Given the description of an element on the screen output the (x, y) to click on. 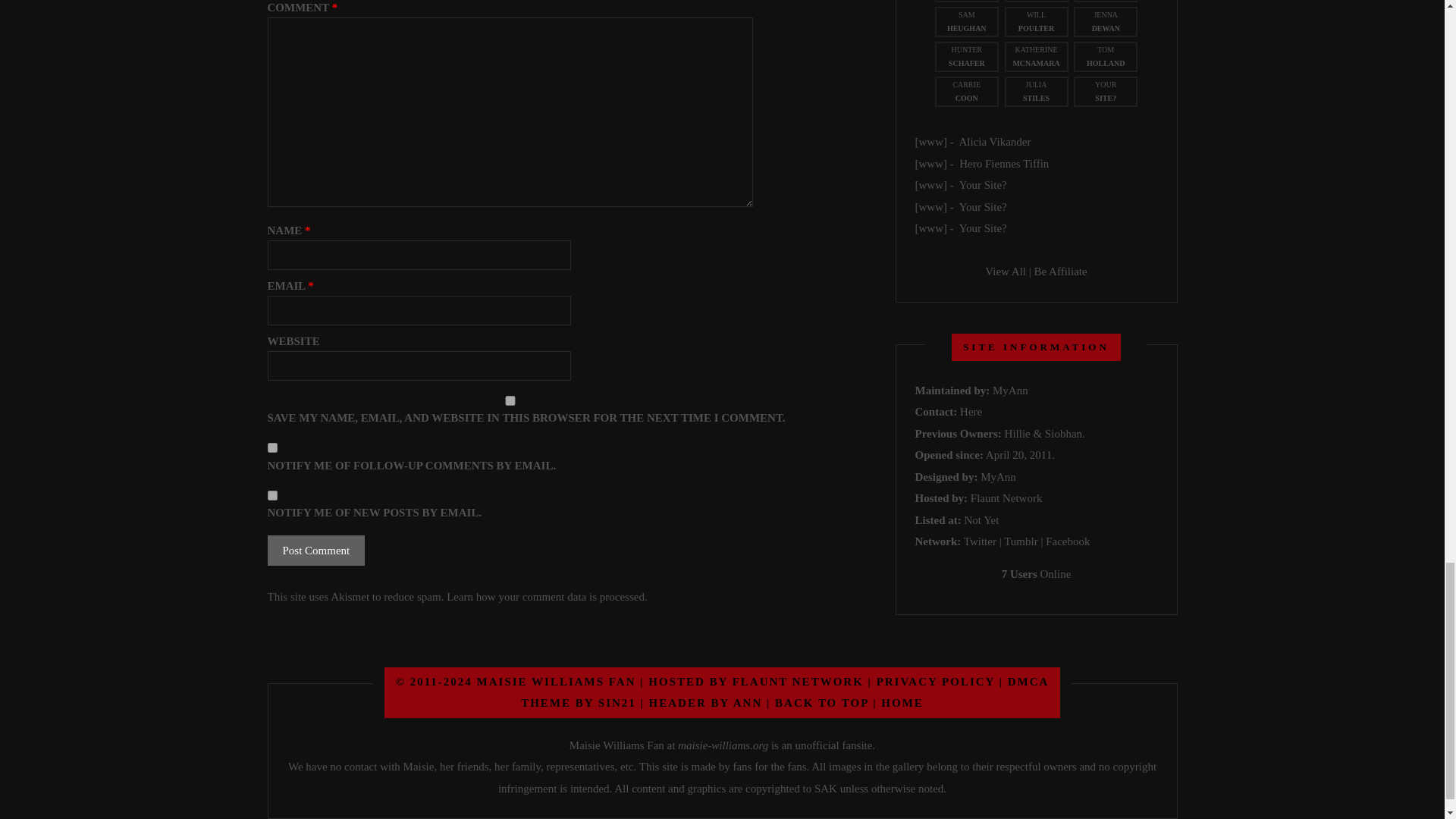
Post Comment (315, 550)
Post Comment (315, 550)
subscribe (271, 495)
subscribe (271, 447)
Learn how your comment data is processed (545, 596)
yes (509, 400)
